Given the description of an element on the screen output the (x, y) to click on. 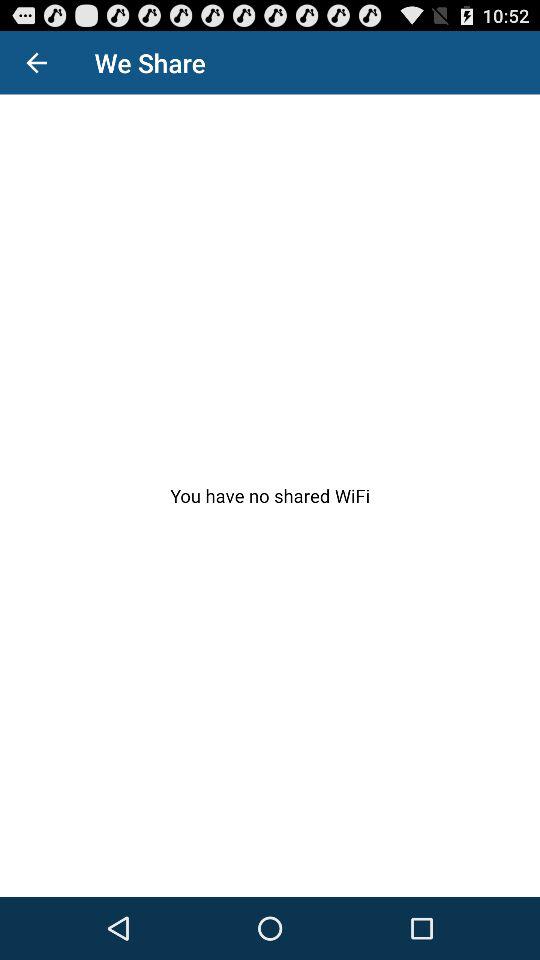
launch the icon next to the we share item (36, 62)
